Given the description of an element on the screen output the (x, y) to click on. 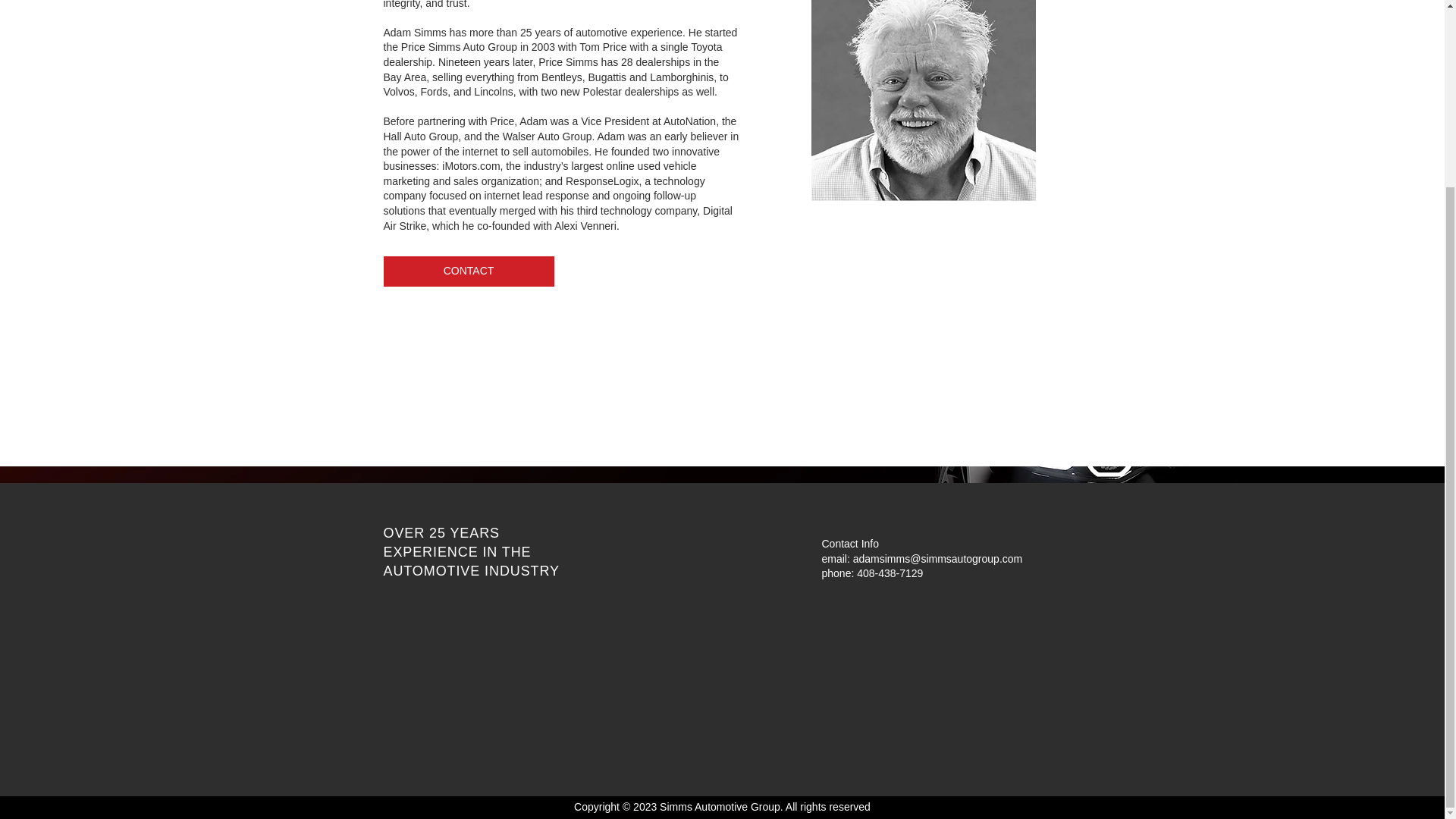
CONTACT (469, 271)
